Given the description of an element on the screen output the (x, y) to click on. 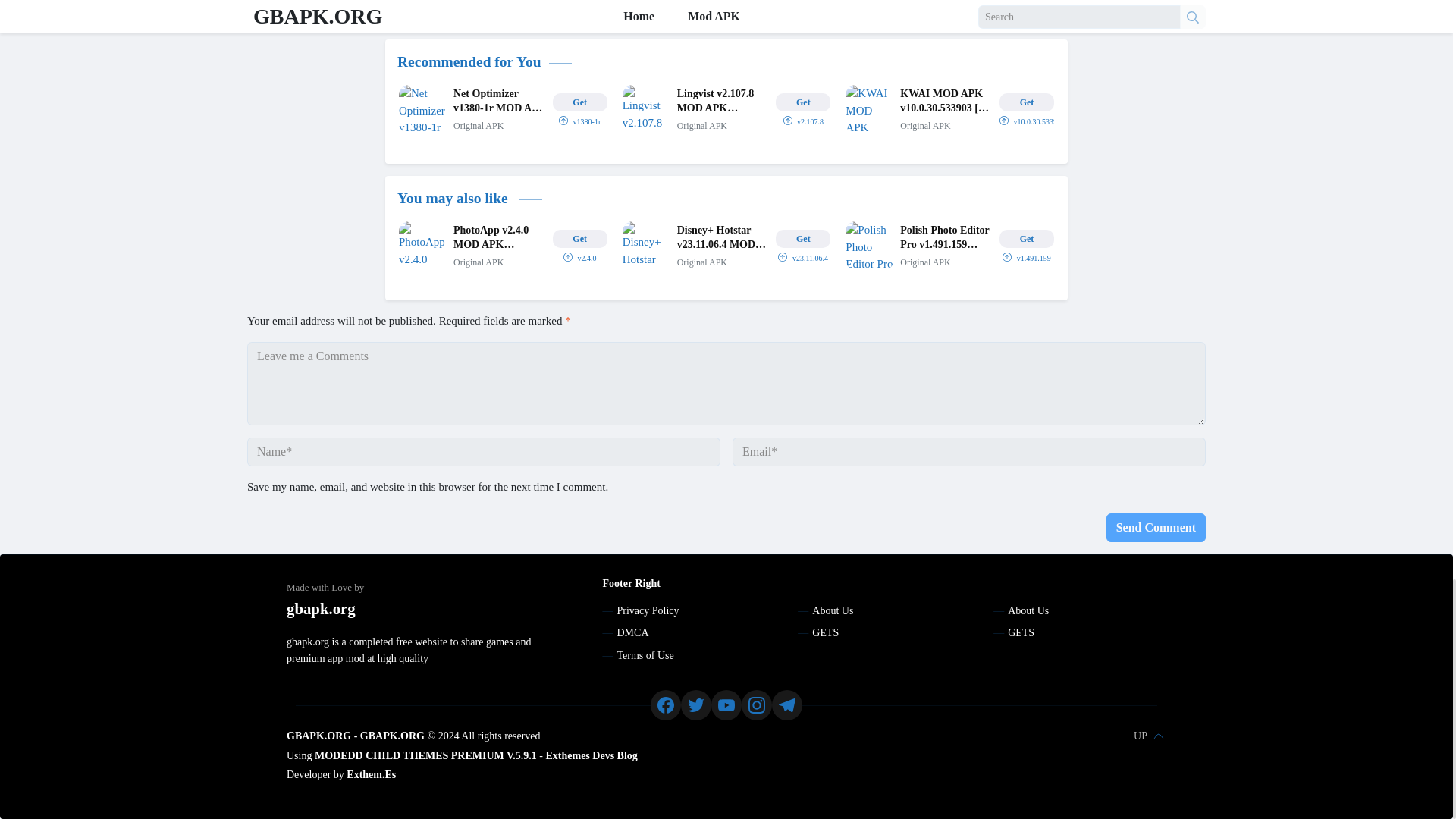
Send Comment (1155, 527)
Exthemes Devs Blog (590, 755)
Modedd Child Themes Premium v.5.9.1 - exthem.es (425, 755)
premium wordpress themes - exthem.es (371, 774)
